Given the description of an element on the screen output the (x, y) to click on. 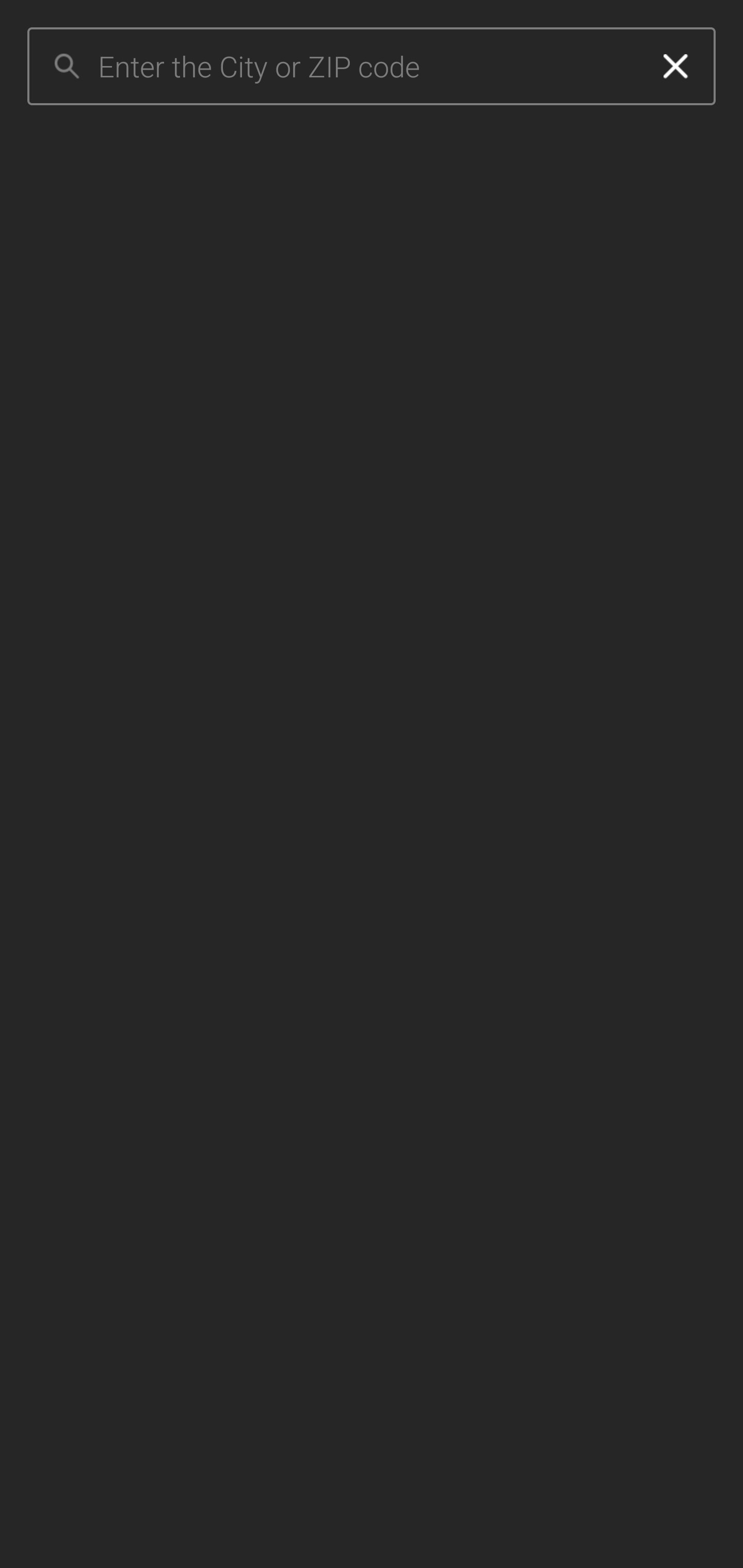
Enter the City or ZIP code (367, 66)
